Given the description of an element on the screen output the (x, y) to click on. 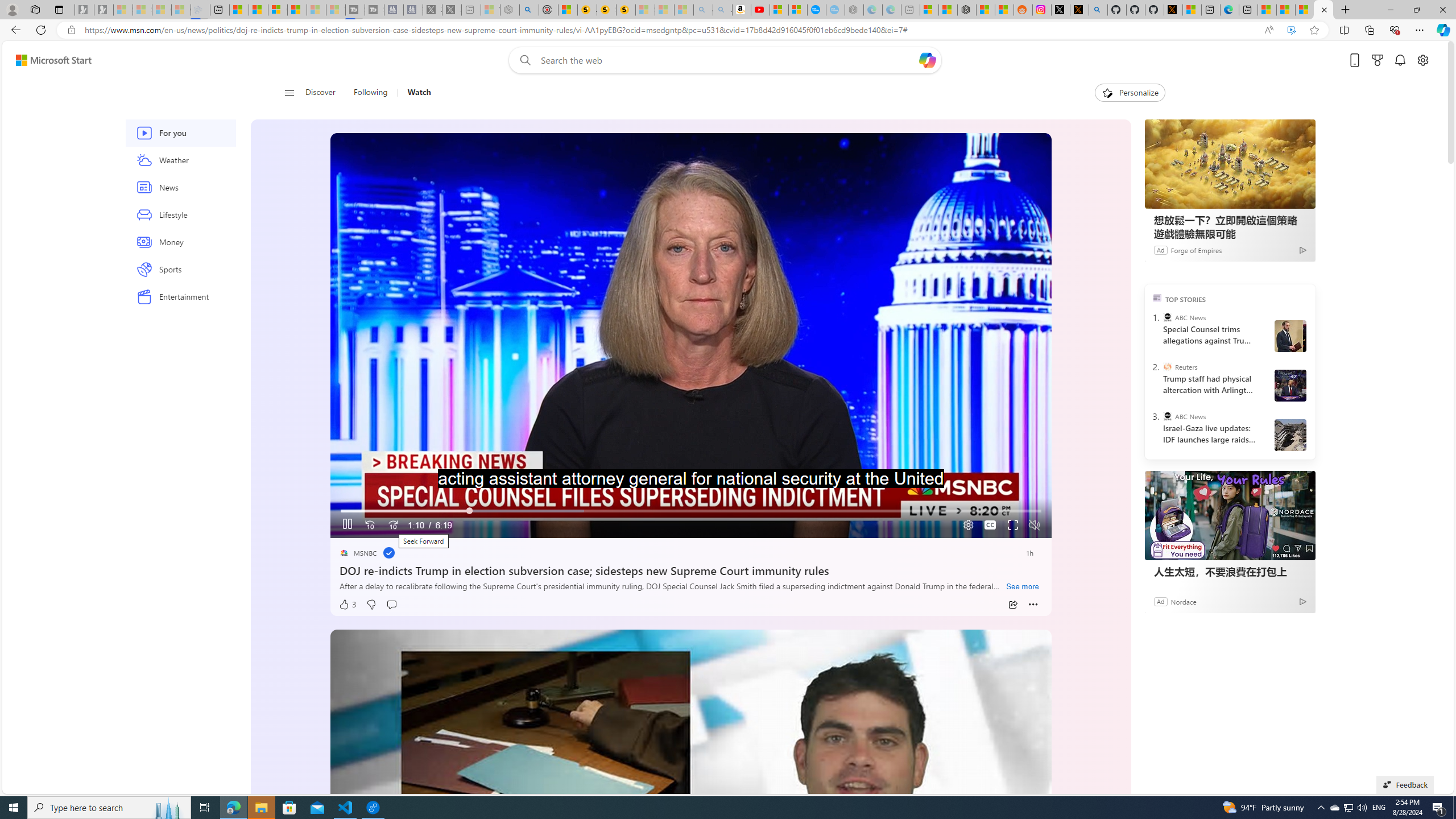
Microsoft account | Microsoft Account Privacy Settings (929, 9)
Captions (989, 525)
help.x.com | 524: A timeout occurred (1079, 9)
X - Sleeping (450, 9)
Fullscreen (1013, 525)
Newsletter Sign Up - Sleeping (102, 9)
